Given the description of an element on the screen output the (x, y) to click on. 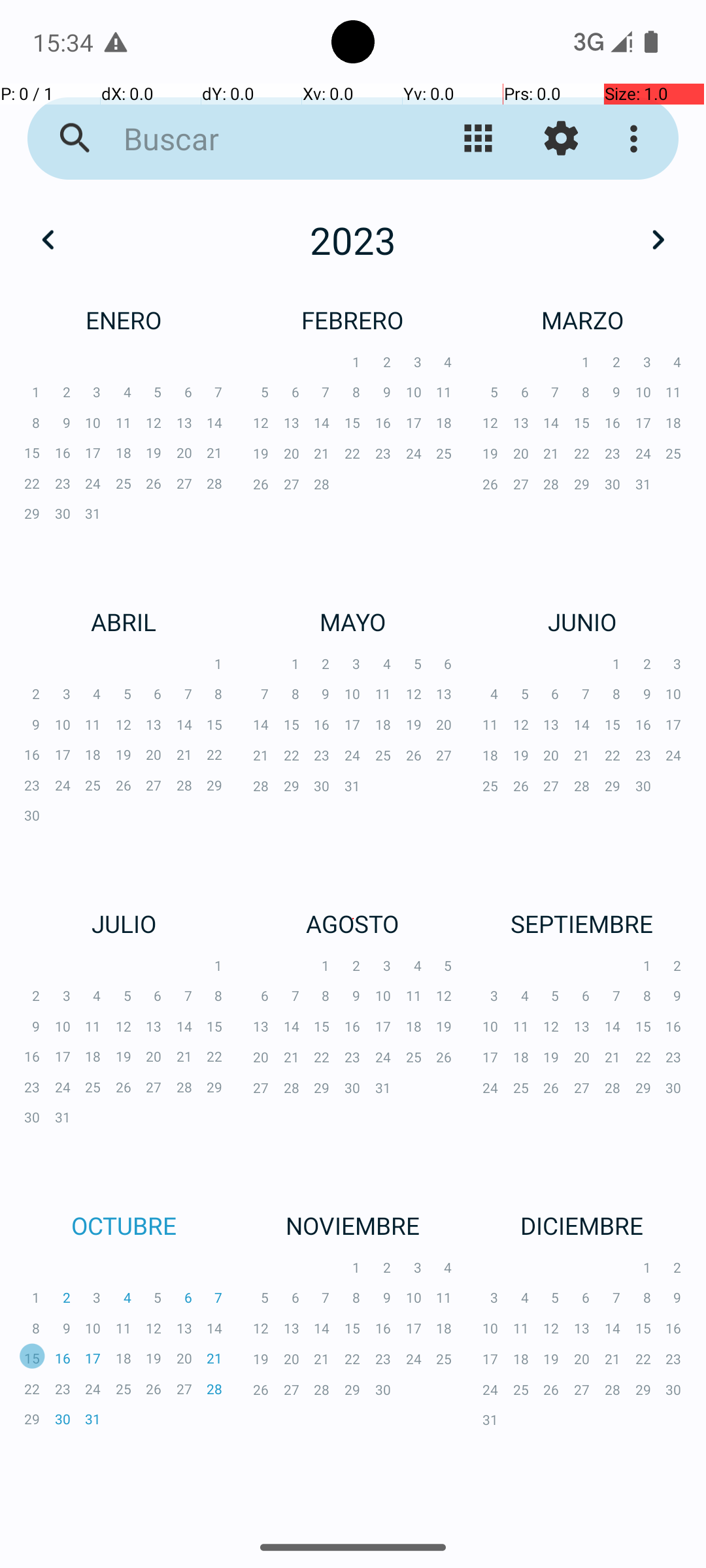
Buscar Element type: android.widget.EditText (252, 138)
Cambiar vista Element type: android.widget.Button (477, 138)
Ajustes Element type: android.widget.Button (560, 138)
Más opciones Element type: android.widget.ImageView (636, 138)
ENERO Element type: android.widget.TextView (123, 319)
FEBRERO Element type: android.widget.TextView (352, 319)
MARZO Element type: android.widget.TextView (582, 319)
ABRIL Element type: android.widget.TextView (123, 621)
MAYO Element type: android.widget.TextView (352, 621)
JUNIO Element type: android.widget.TextView (582, 621)
JULIO Element type: android.widget.TextView (123, 923)
AGOSTO Element type: android.widget.TextView (352, 923)
SEPTIEMBRE Element type: android.widget.TextView (582, 923)
OCTUBRE Element type: android.widget.TextView (123, 1224)
NOVIEMBRE Element type: android.widget.TextView (352, 1224)
DICIEMBRE Element type: android.widget.TextView (582, 1224)
